Given the description of an element on the screen output the (x, y) to click on. 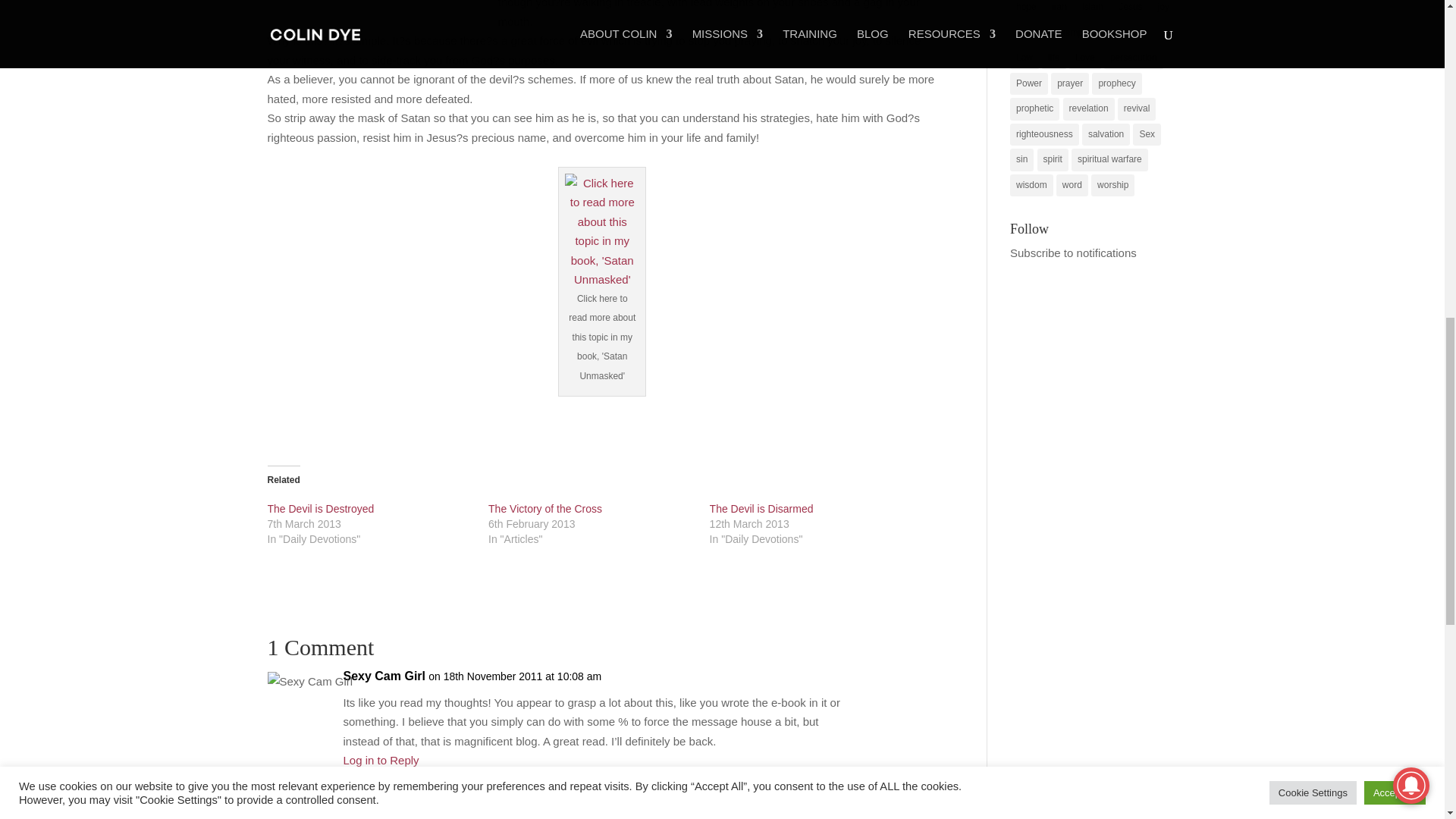
The Devil is Disarmed (761, 508)
The Victory of the Cross (544, 508)
The Devil is Destroyed (320, 508)
